Given the description of an element on the screen output the (x, y) to click on. 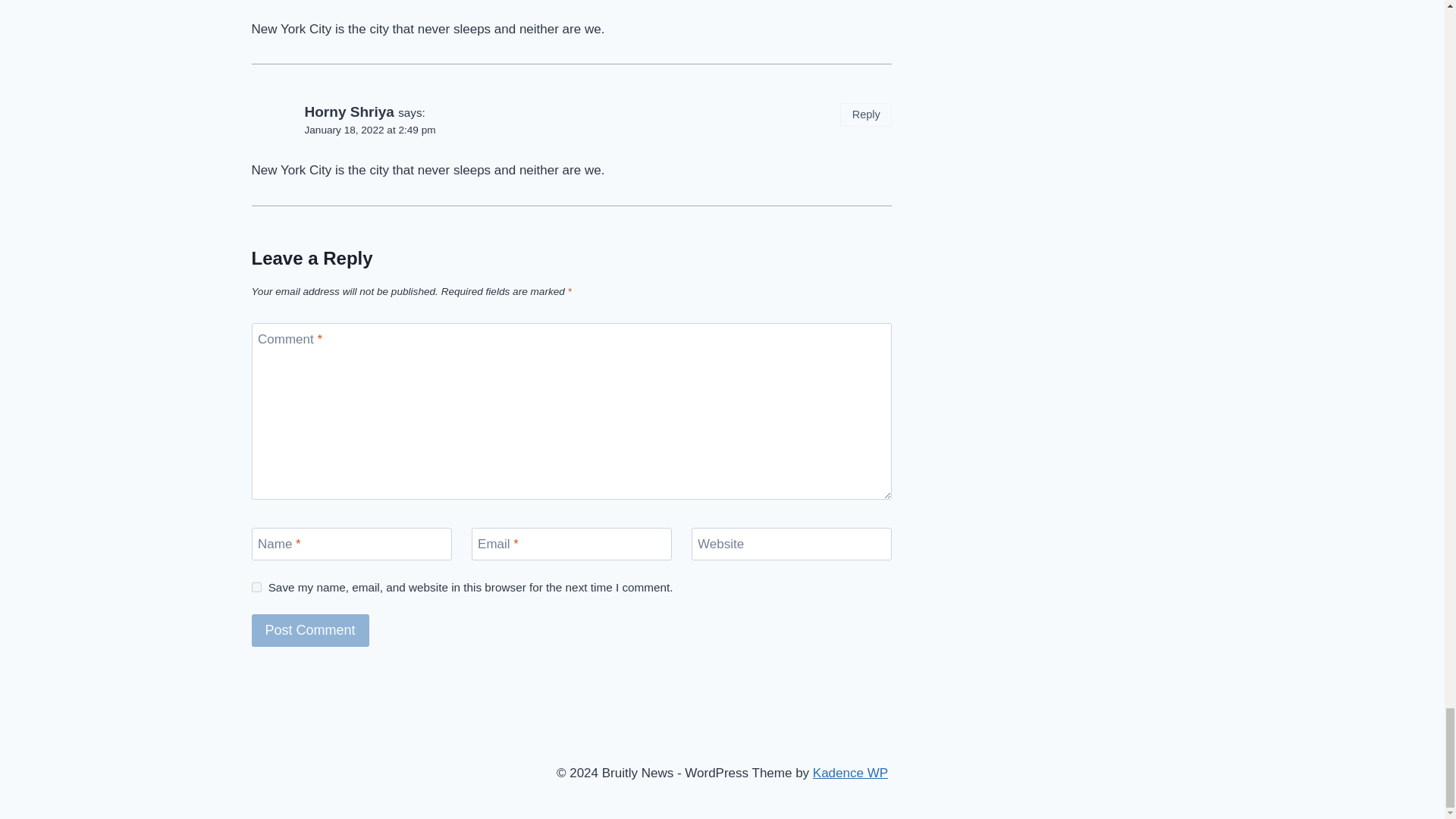
Post Comment (310, 630)
yes (256, 587)
